Given the description of an element on the screen output the (x, y) to click on. 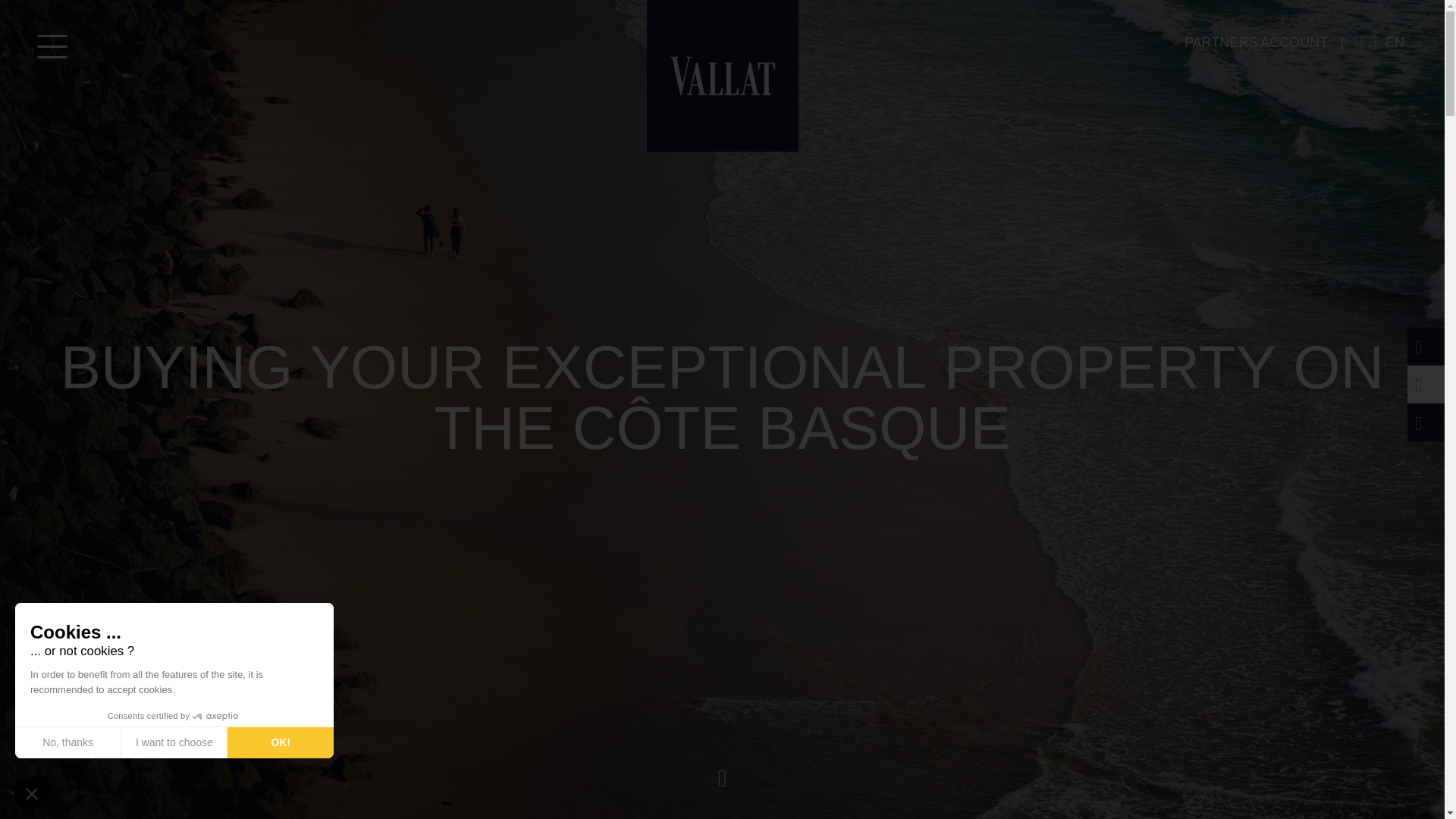
Home Vallat (721, 74)
English (1394, 42)
Close the widget without accepting cookie settings (31, 792)
